Given the description of an element on the screen output the (x, y) to click on. 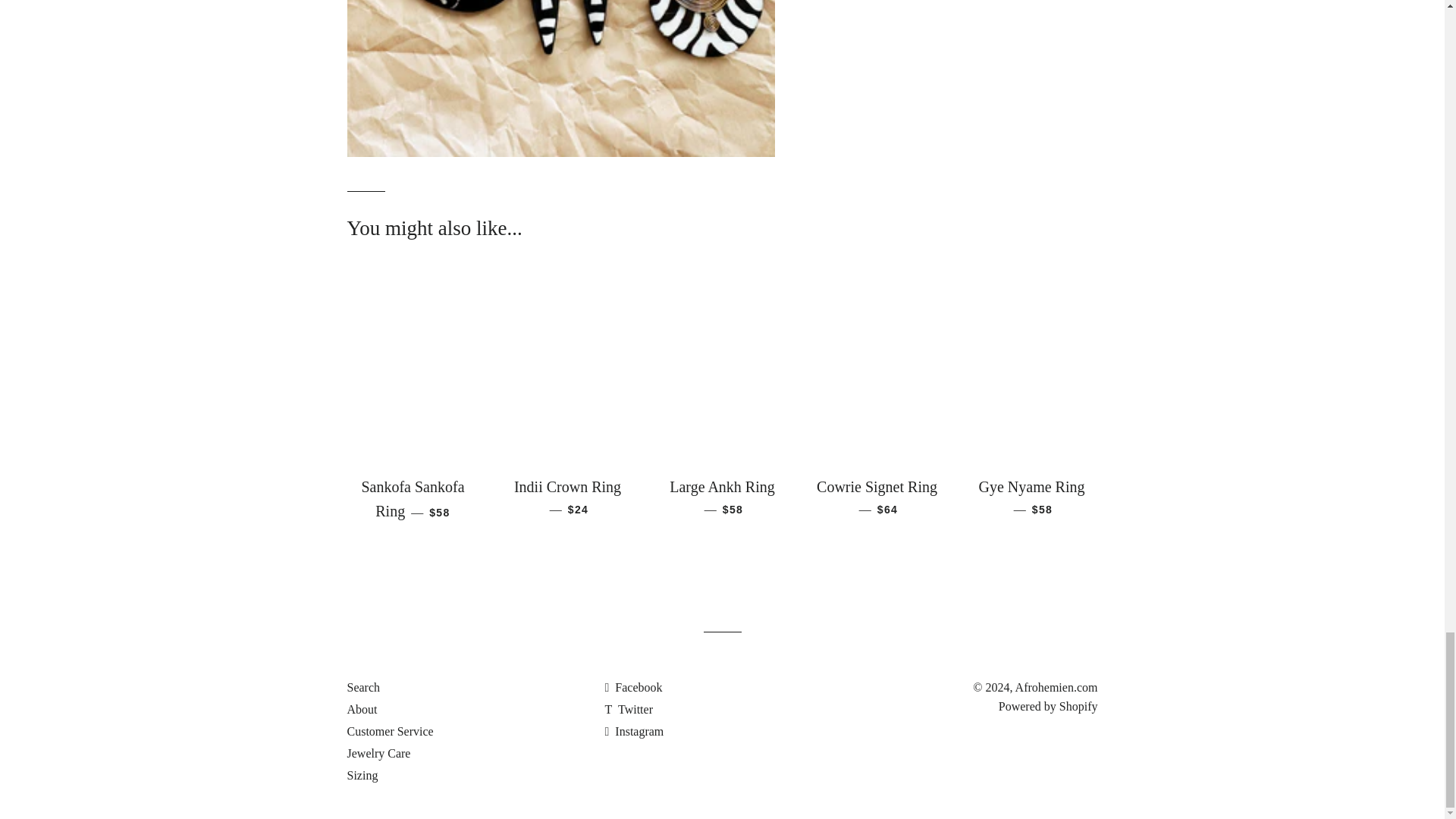
Afrohemien.com on Twitter (628, 708)
Afrohemien.com on Instagram (633, 730)
Afrohemien.com on Facebook (633, 686)
